Given the description of an element on the screen output the (x, y) to click on. 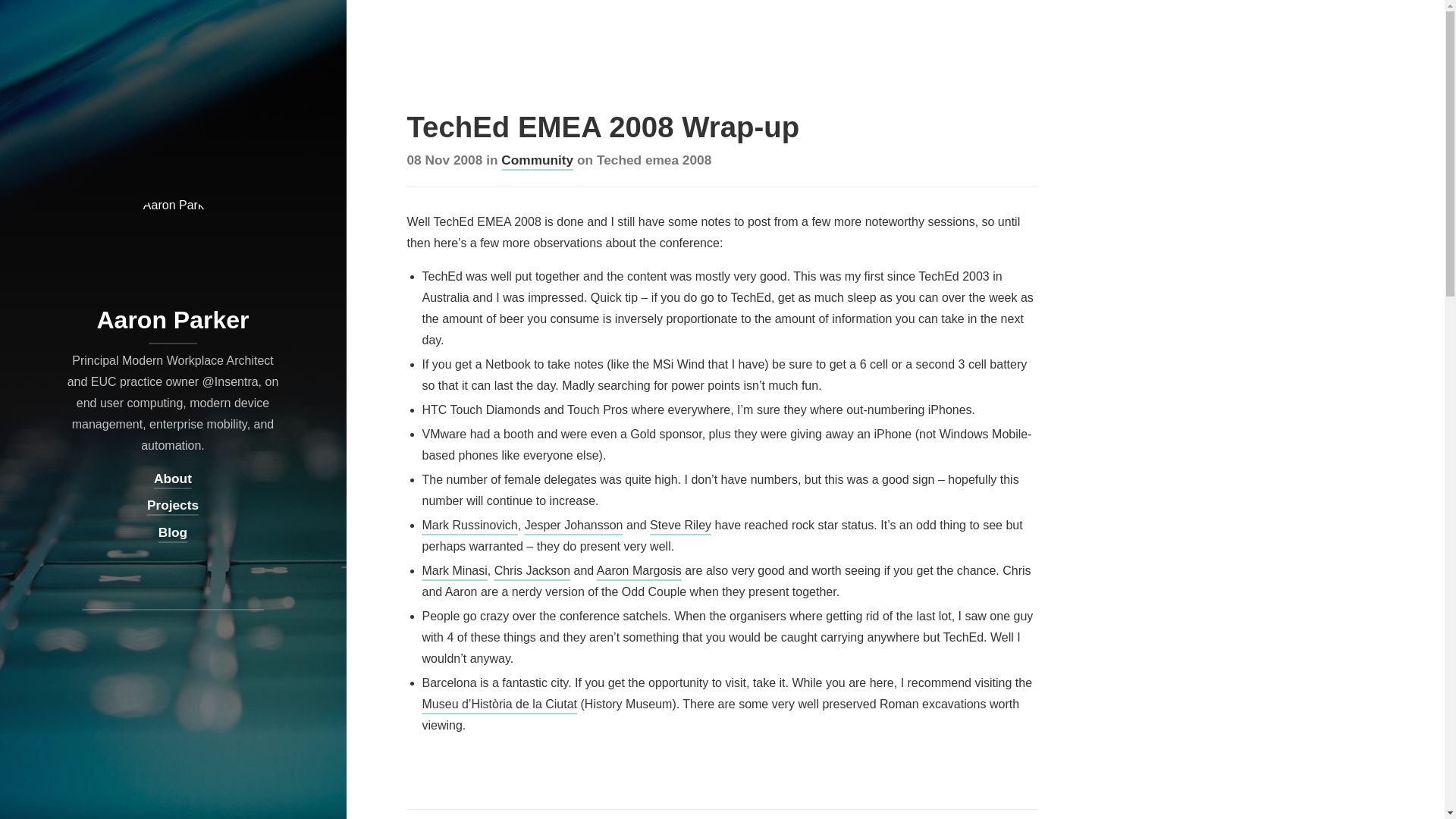
Blog (172, 532)
Chris Jackson (532, 570)
Jesper Johansson (573, 524)
Mark Russinovich (469, 524)
Aaron Parker (173, 332)
Projects (172, 505)
About (173, 478)
Mark Minasi (454, 570)
Steve Riley (680, 524)
Community (536, 159)
Aaron Margosis (638, 570)
